Given the description of an element on the screen output the (x, y) to click on. 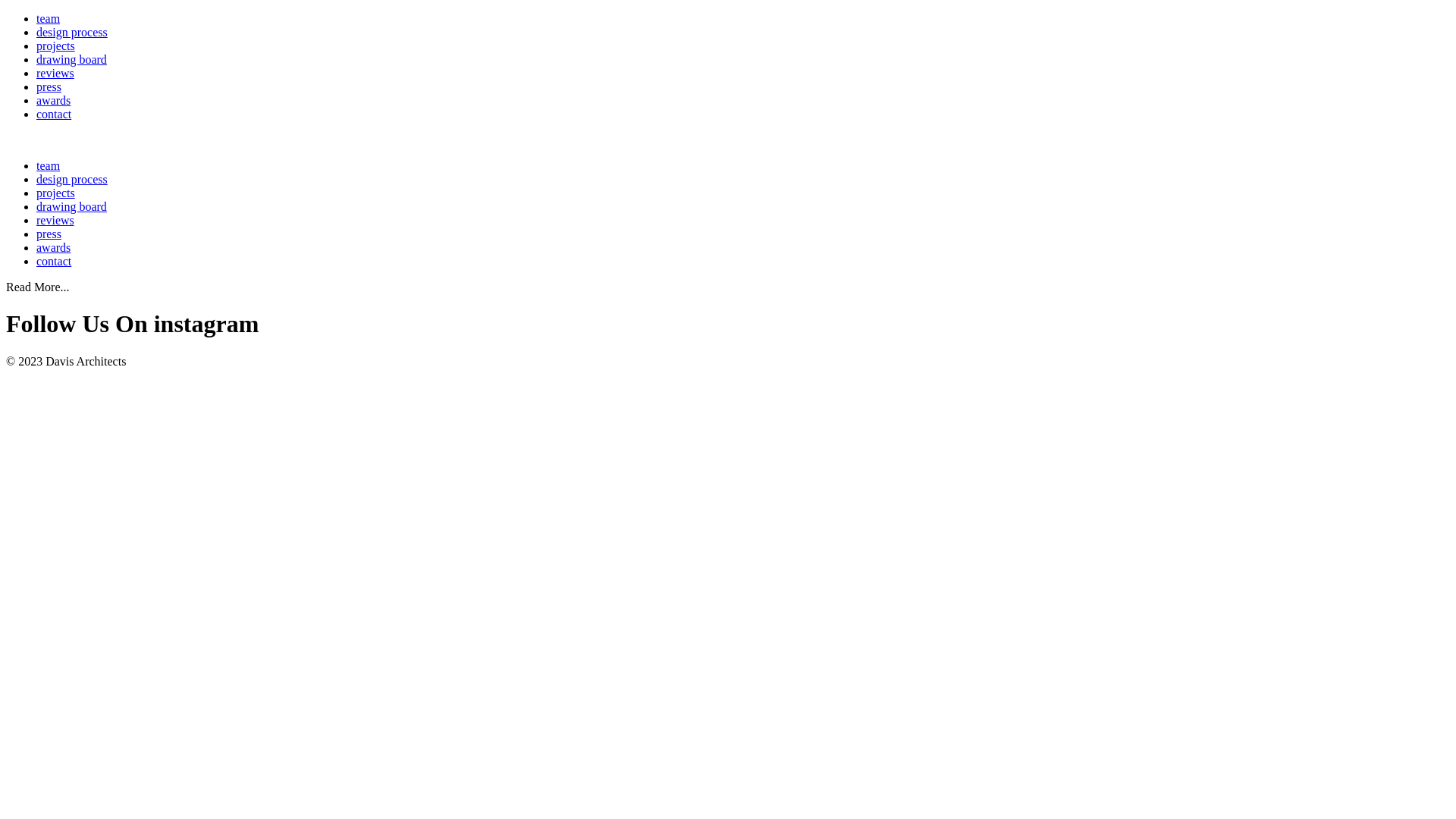
projects Element type: text (55, 192)
awards Element type: text (53, 100)
design process Element type: text (71, 31)
press Element type: text (48, 233)
contact Element type: text (53, 113)
team Element type: text (47, 18)
drawing board Element type: text (71, 206)
awards Element type: text (53, 247)
design process Element type: text (71, 178)
contact Element type: text (53, 260)
reviews Element type: text (55, 219)
reviews Element type: text (55, 72)
projects Element type: text (55, 45)
press Element type: text (48, 86)
team Element type: text (47, 165)
drawing board Element type: text (71, 59)
